Given the description of an element on the screen output the (x, y) to click on. 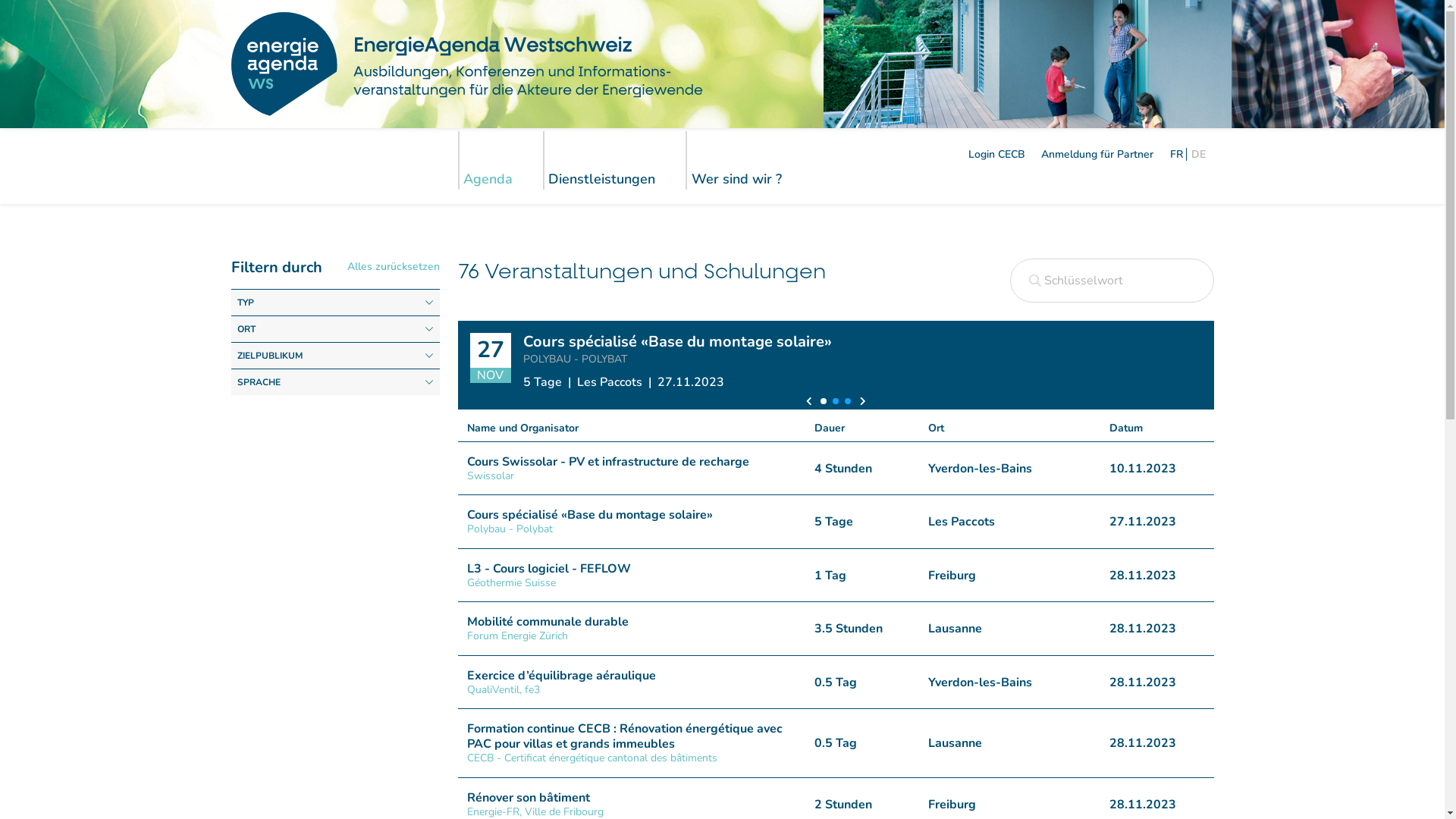
ORT Element type: text (334, 329)
DE Element type: text (1199, 154)
TYP Element type: text (334, 302)
SPRACHE Element type: text (334, 382)
Agenda Element type: text (500, 160)
Wer sind wir ? Element type: text (749, 160)
FR Element type: text (1173, 154)
Login CECB Element type: text (996, 154)
ZIELPUBLIKUM Element type: text (334, 355)
Dienstleistungen Element type: text (614, 160)
